Given the description of an element on the screen output the (x, y) to click on. 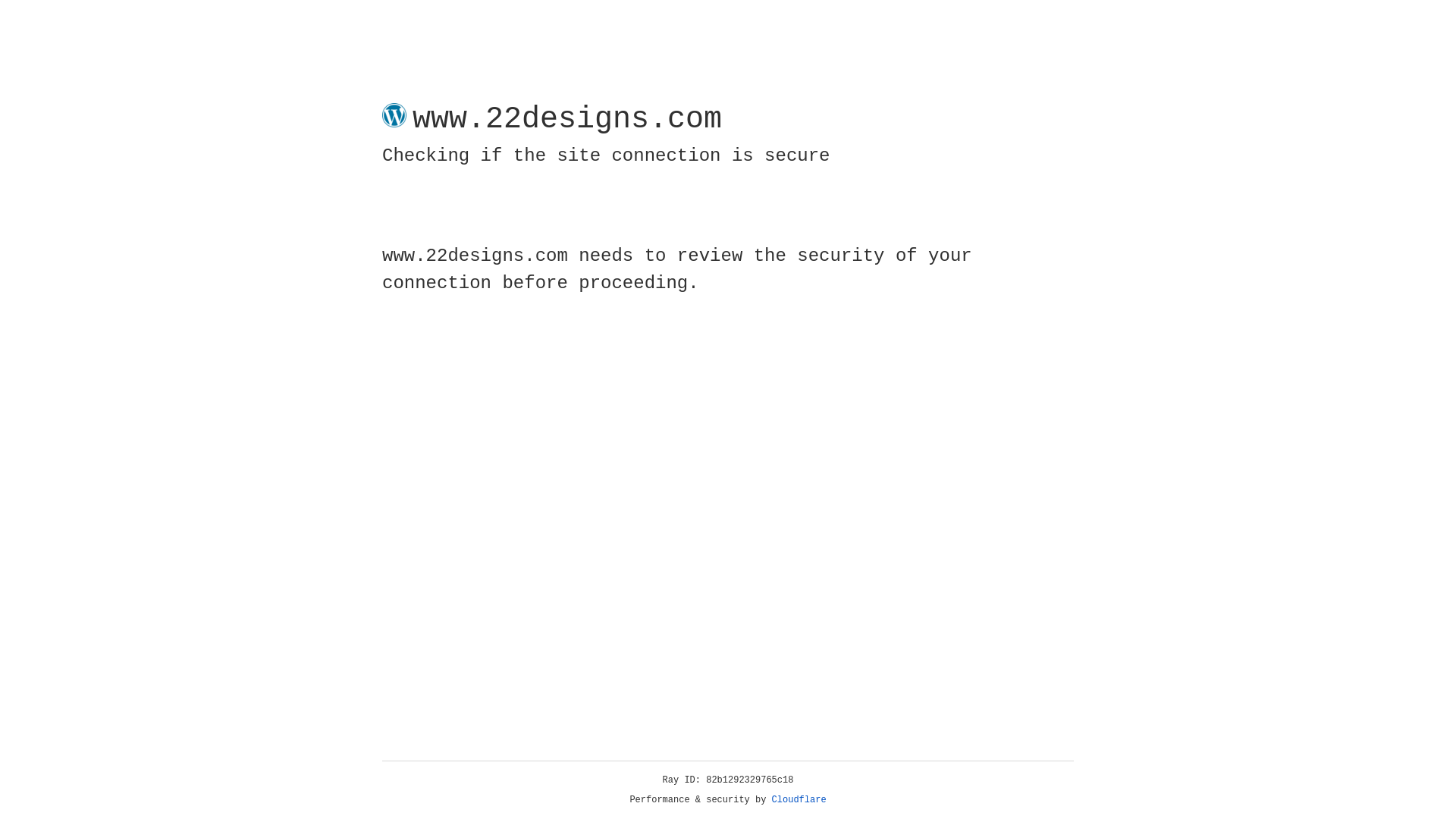
Cloudflare Element type: text (798, 799)
